Given the description of an element on the screen output the (x, y) to click on. 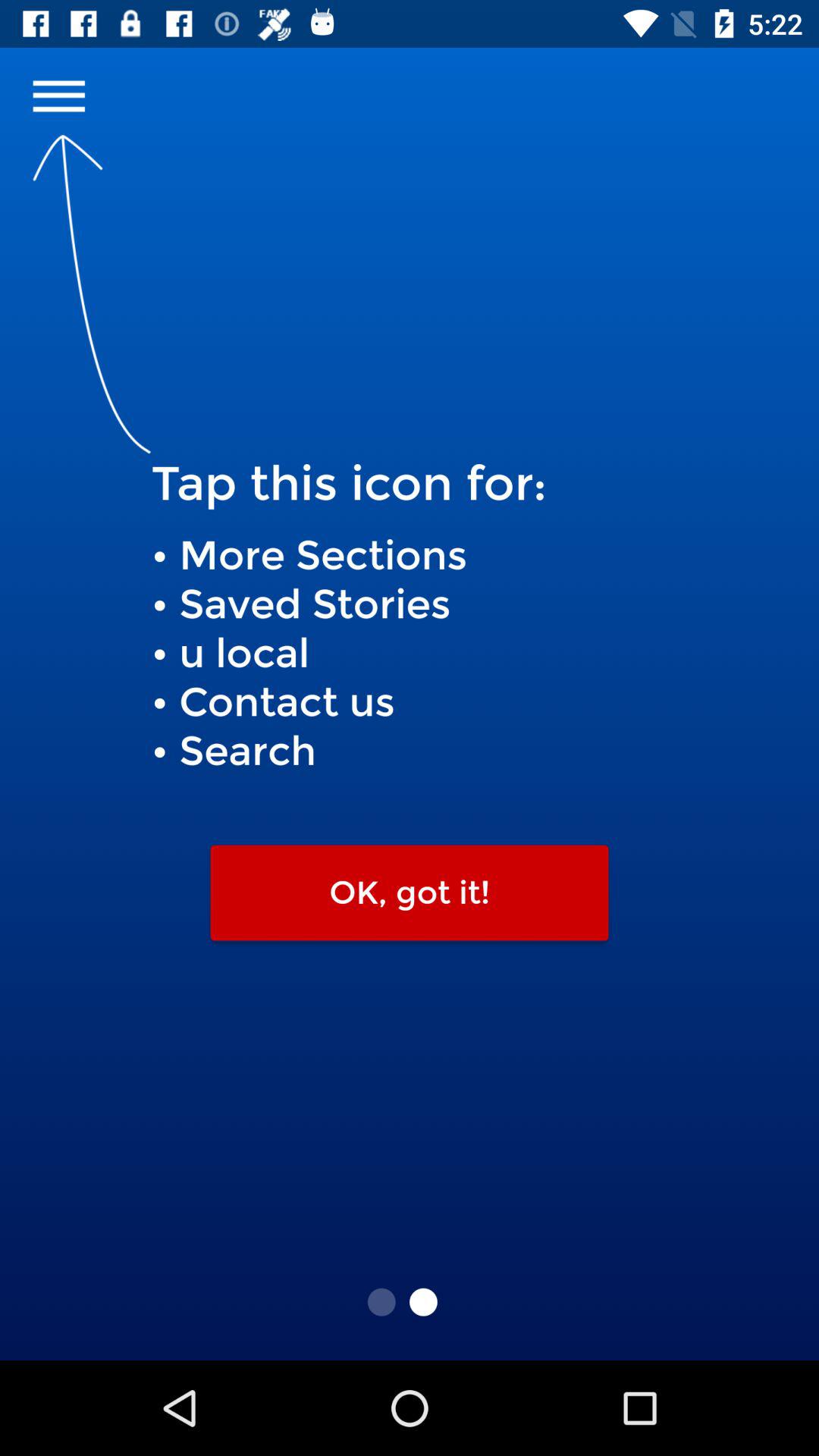
select item below more sections saved icon (409, 892)
